Given the description of an element on the screen output the (x, y) to click on. 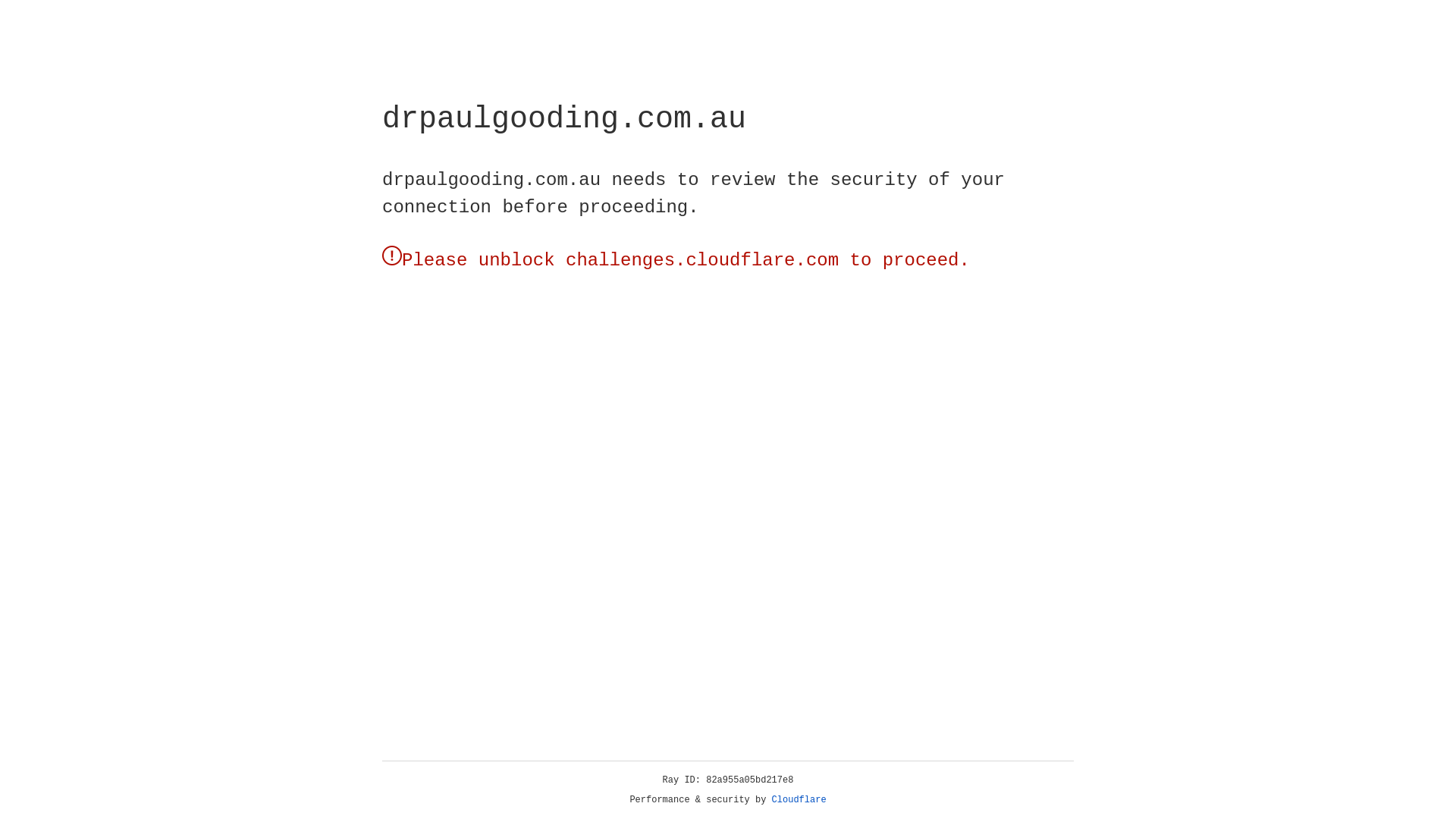
Cloudflare Element type: text (798, 799)
